Given the description of an element on the screen output the (x, y) to click on. 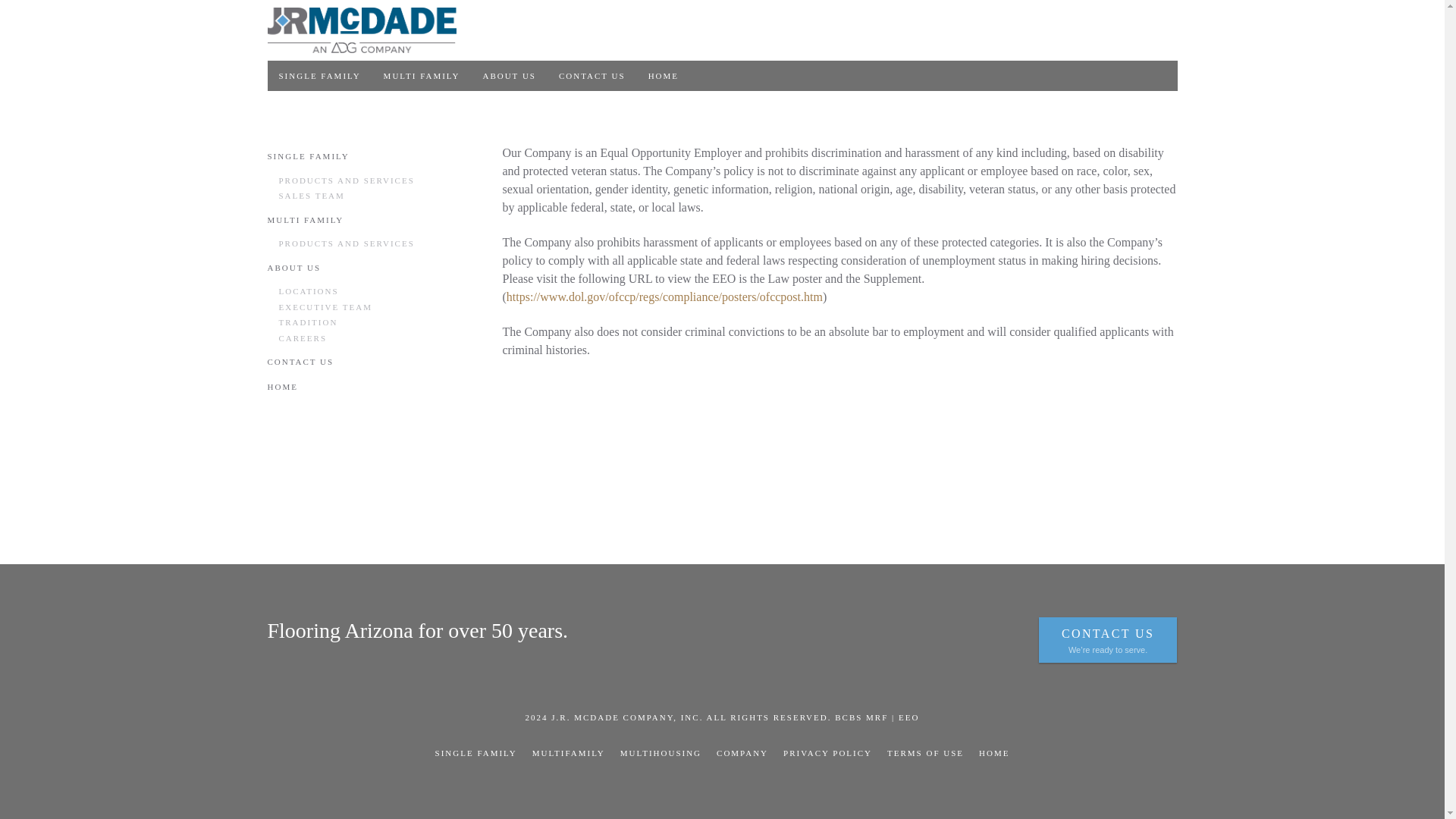
EXECUTIVE TEAM (375, 306)
ABOUT US (368, 267)
PRODUCTS AND SERVICES (375, 180)
MULTI FAMILY (368, 220)
SINGLE FAMILY (368, 156)
PRODUCTS AND SERVICES (375, 243)
SINGLE FAMILY (318, 75)
CONTACT US (592, 75)
CONTACT US (368, 361)
TRADITION (375, 322)
LOCATIONS (375, 291)
ABOUT US (508, 75)
MULTI FAMILY (421, 75)
SALES TEAM (375, 195)
HOME (663, 75)
